Given the description of an element on the screen output the (x, y) to click on. 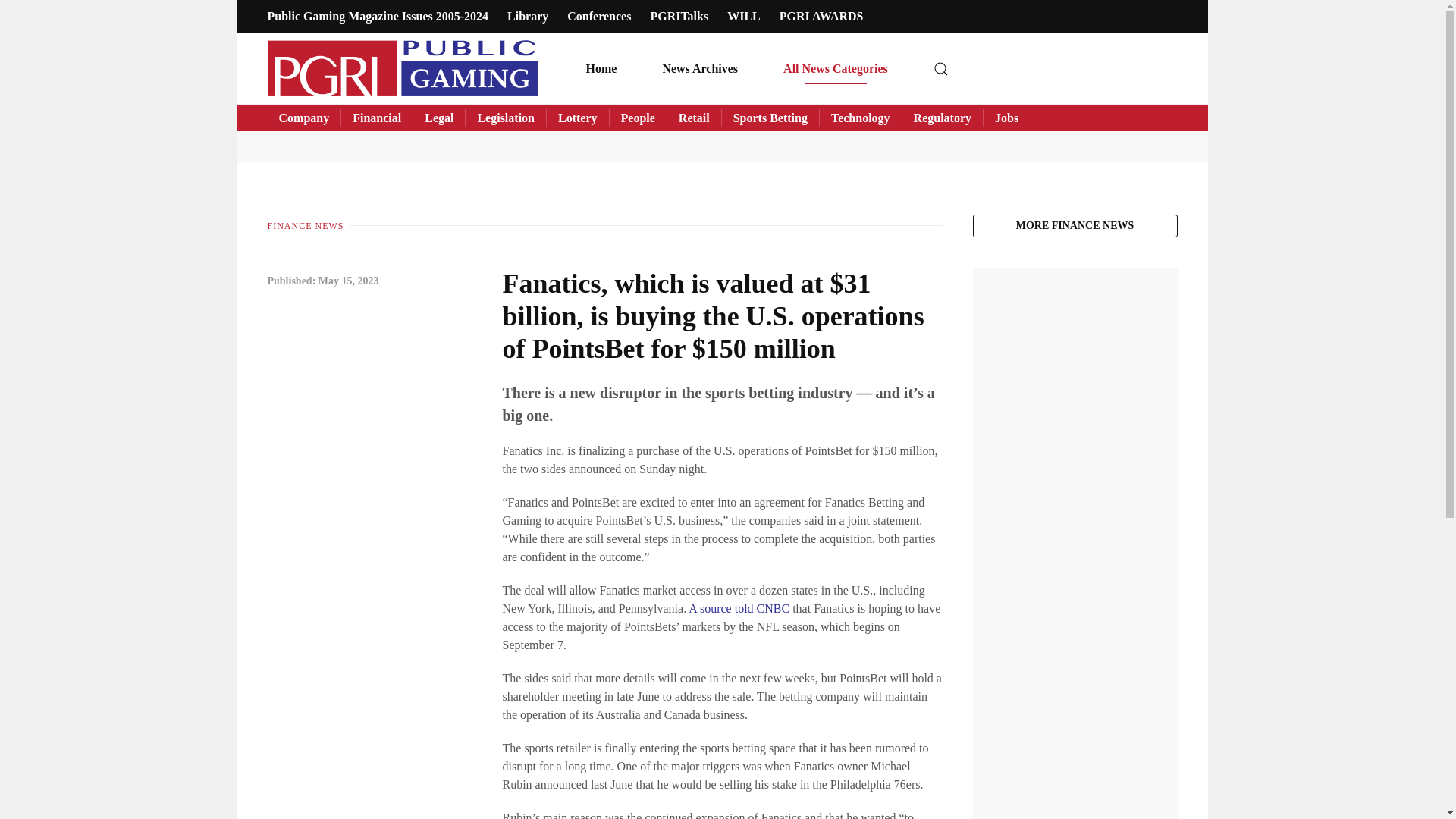
WILL (743, 16)
All News Categories (835, 67)
Conferences (598, 16)
PGRITalks (678, 16)
News Archives (700, 67)
PGRI AWARDS (820, 16)
Library (527, 16)
Public Gaming Magazine Issues 2005-2024 (376, 16)
Browse all Finance news (1074, 225)
